Given the description of an element on the screen output the (x, y) to click on. 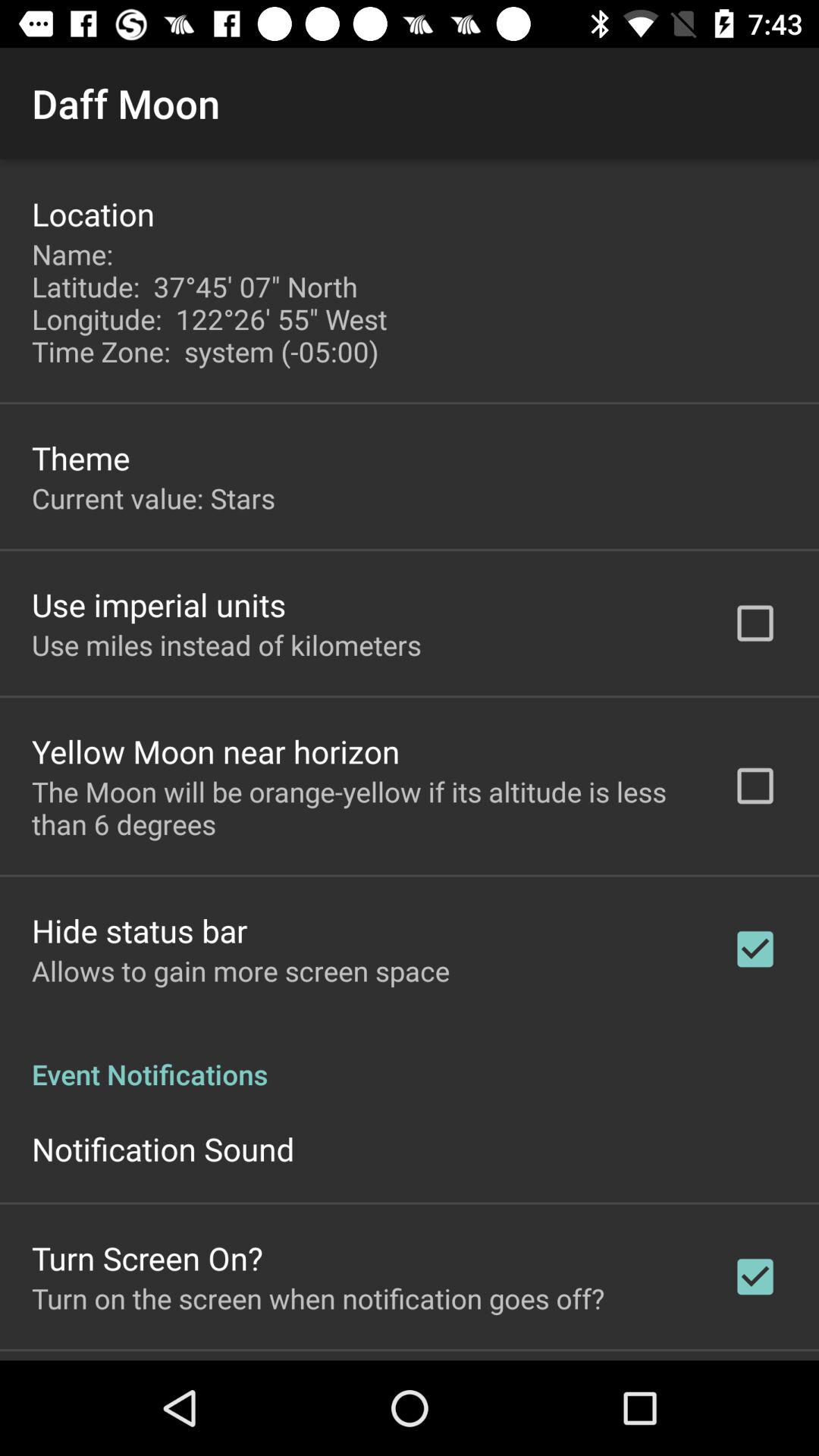
swipe to the event notifications (409, 1058)
